Given the description of an element on the screen output the (x, y) to click on. 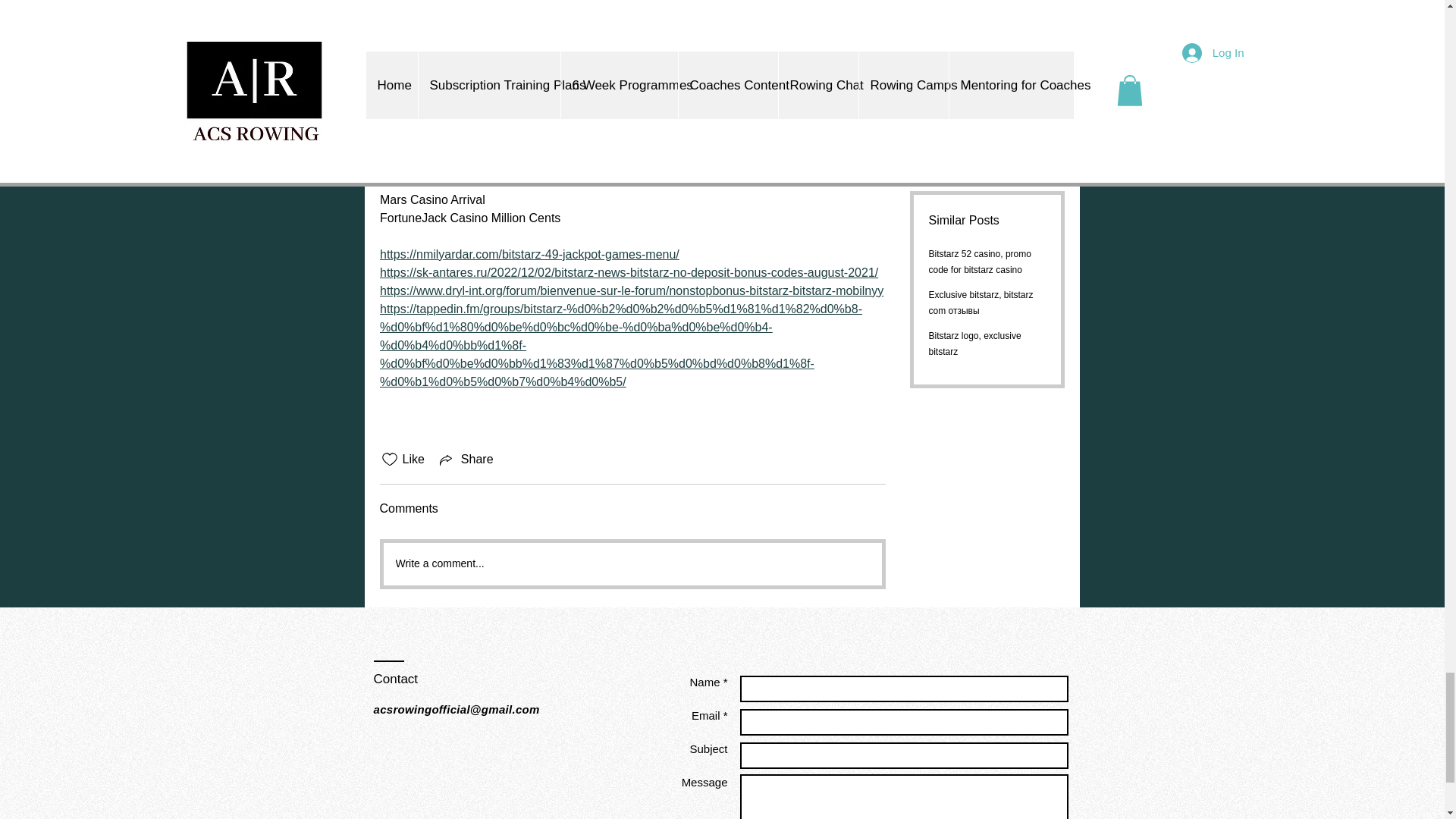
Write a comment... (633, 563)
Share (464, 459)
